Given the description of an element on the screen output the (x, y) to click on. 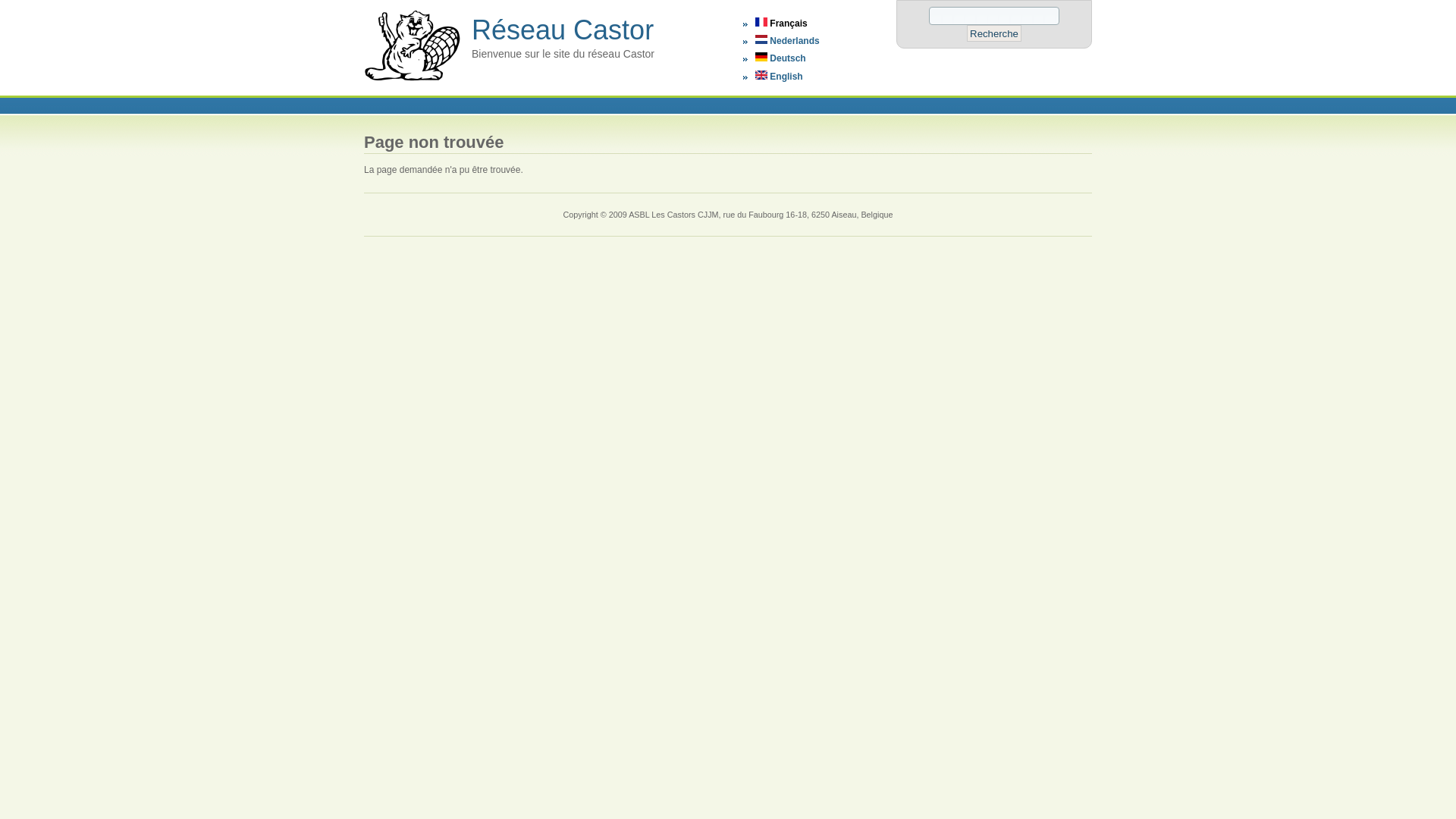
Nederlands Element type: hover (761, 38)
English Element type: hover (761, 74)
English Element type: text (779, 76)
Recherche Element type: text (993, 33)
Nederlands Element type: text (787, 40)
Saisissez les termes que vous voulez rechercher. Element type: hover (993, 15)
Deutsch Element type: text (780, 58)
Accueil Element type: hover (412, 81)
Deutsch Element type: hover (761, 56)
